Given the description of an element on the screen output the (x, y) to click on. 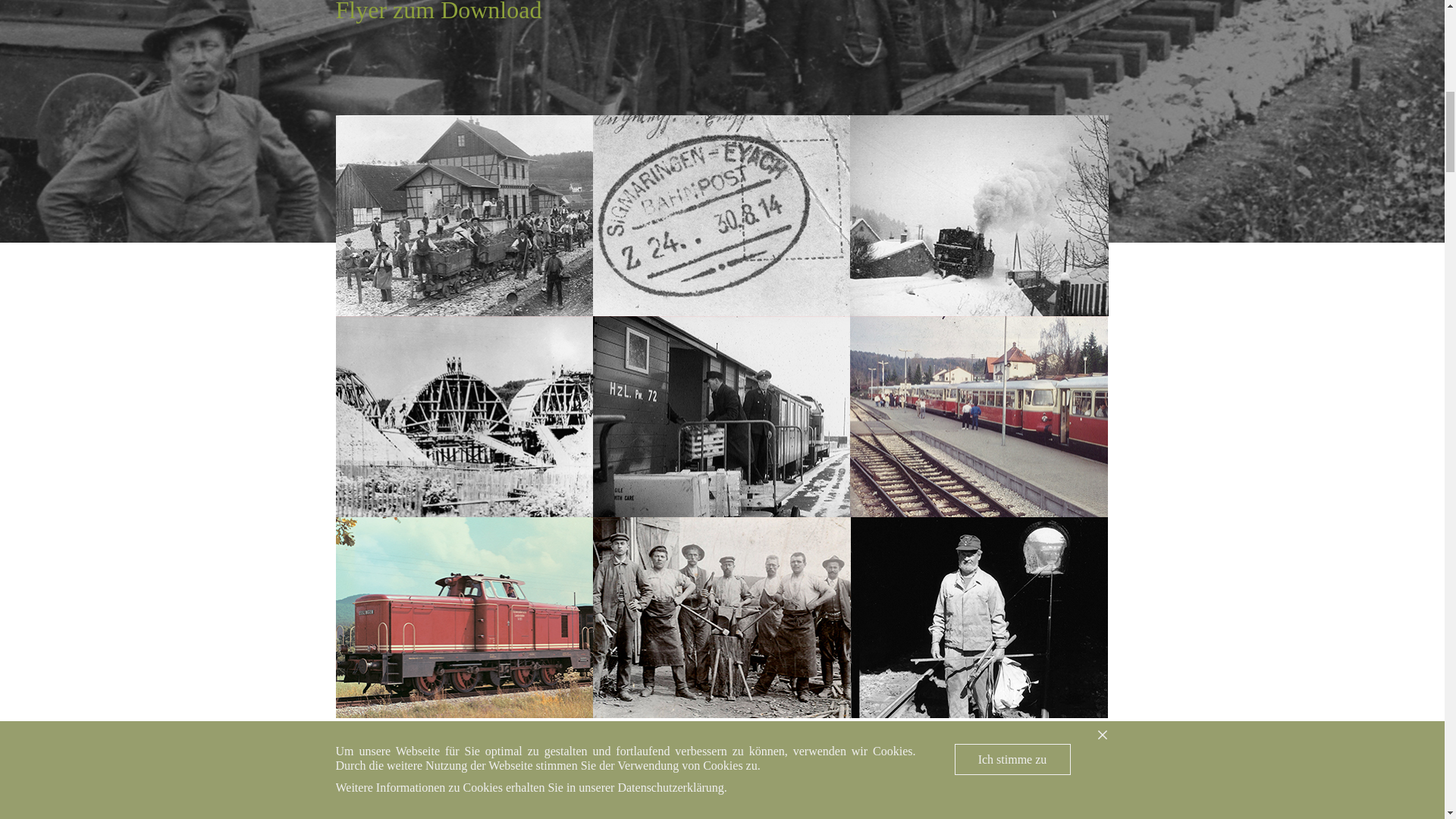
Flyer zum Download (437, 11)
